Given the description of an element on the screen output the (x, y) to click on. 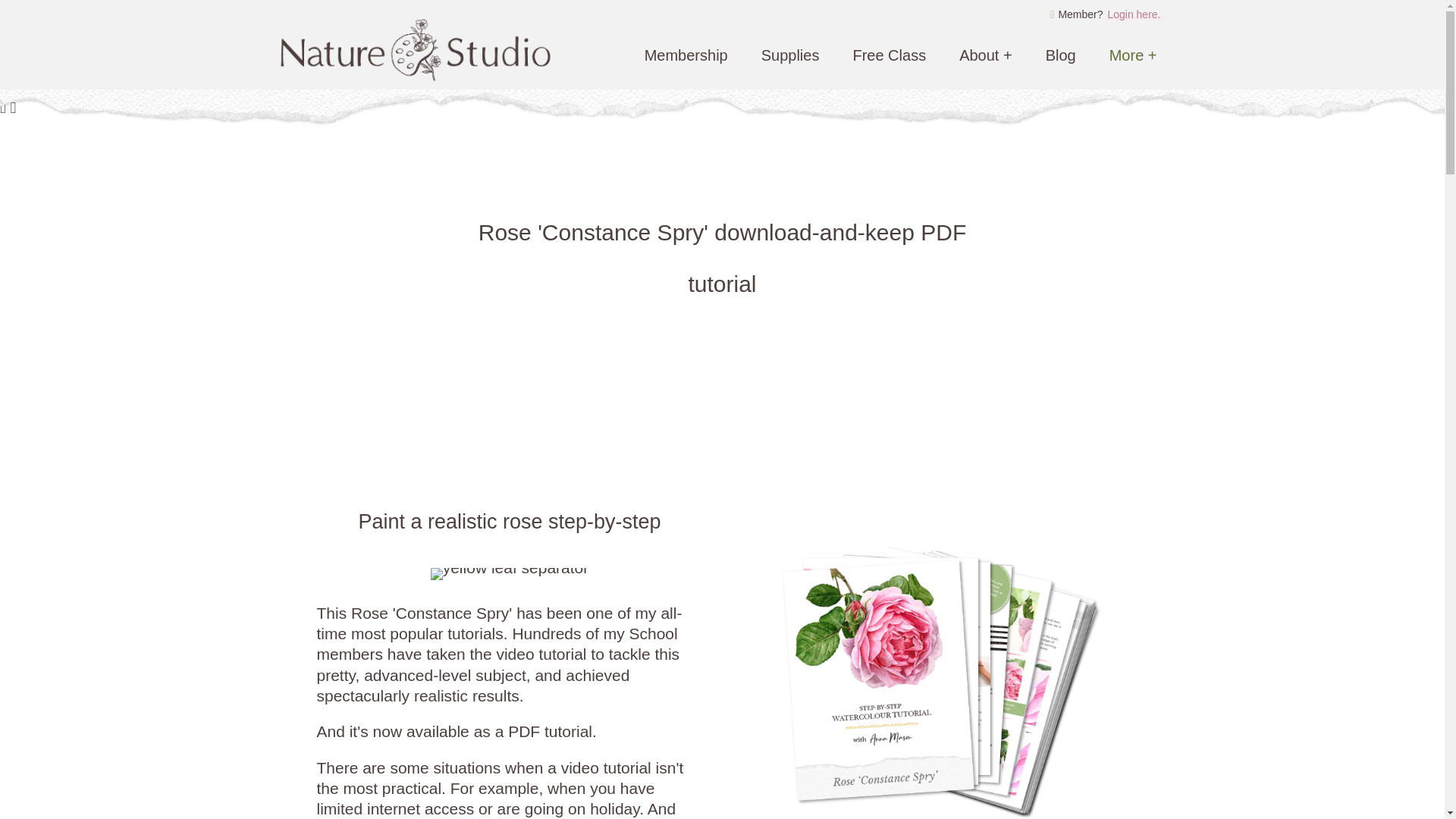
Supplies (790, 55)
Logo-medium (414, 52)
Free Class (888, 55)
Membership (686, 55)
placeholder rcs (922, 658)
Login here. (1133, 14)
Blog (1060, 55)
yellow leaf separator (509, 573)
